Given the description of an element on the screen output the (x, y) to click on. 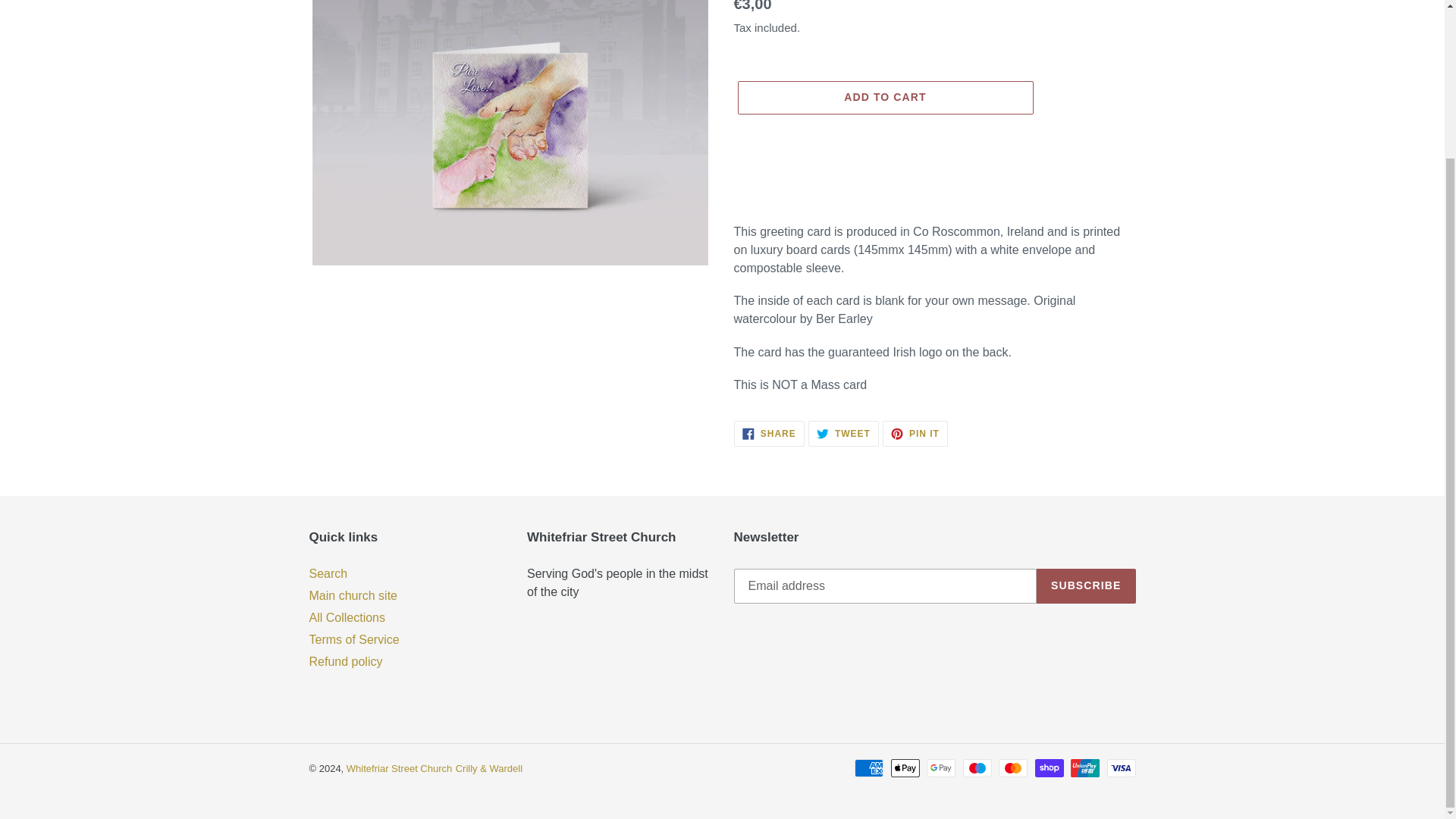
Search (327, 573)
Whitefriar Street Church (769, 433)
Terms of Service (914, 433)
Refund policy (398, 767)
All Collections (353, 639)
ADD TO CART (345, 661)
SUBSCRIBE (346, 617)
Main church site (884, 97)
